Given the description of an element on the screen output the (x, y) to click on. 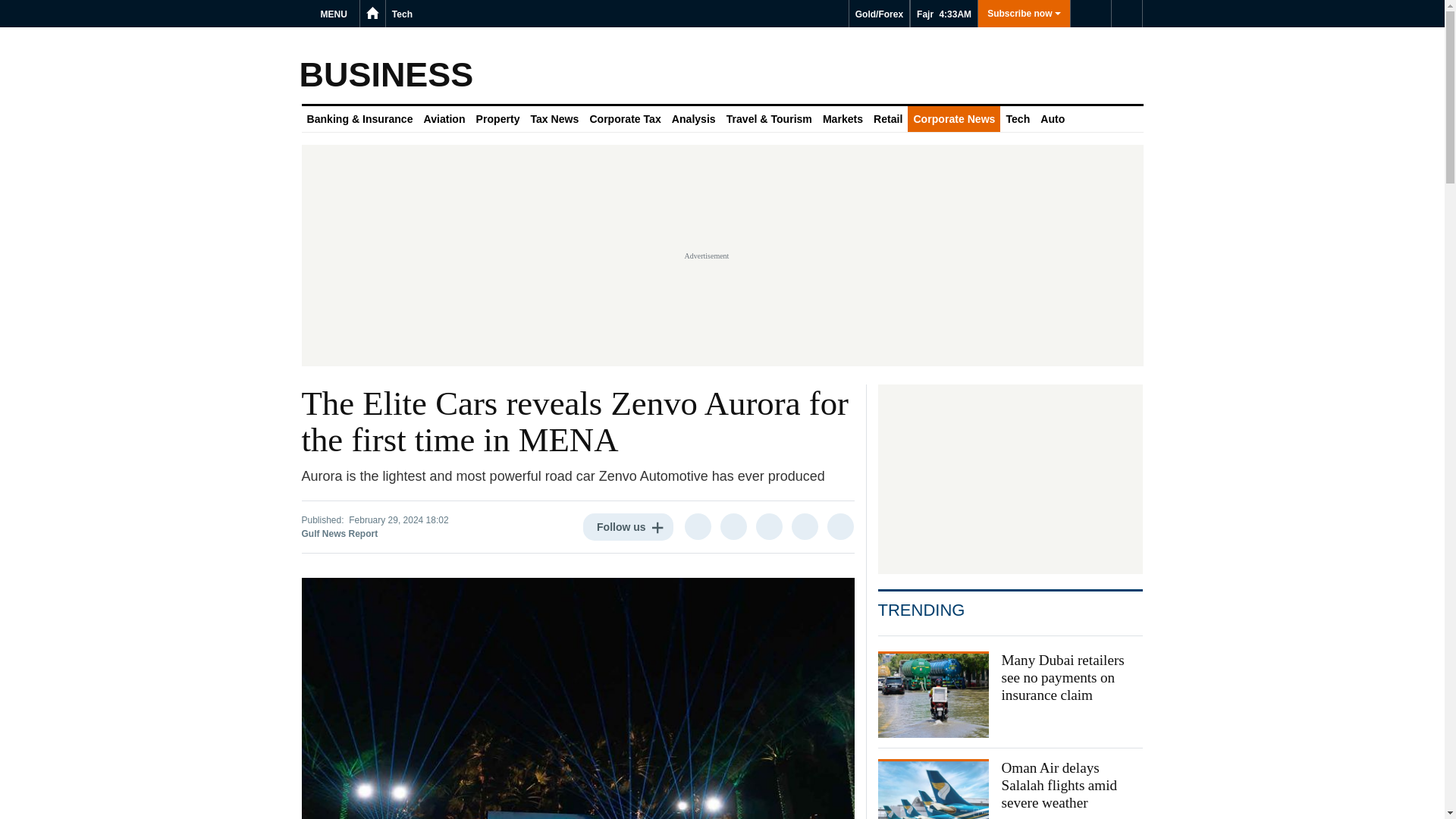
MENU (336, 13)
Tech (402, 13)
Subscribe now (1024, 13)
Fajr 4:33AM (943, 13)
